Given the description of an element on the screen output the (x, y) to click on. 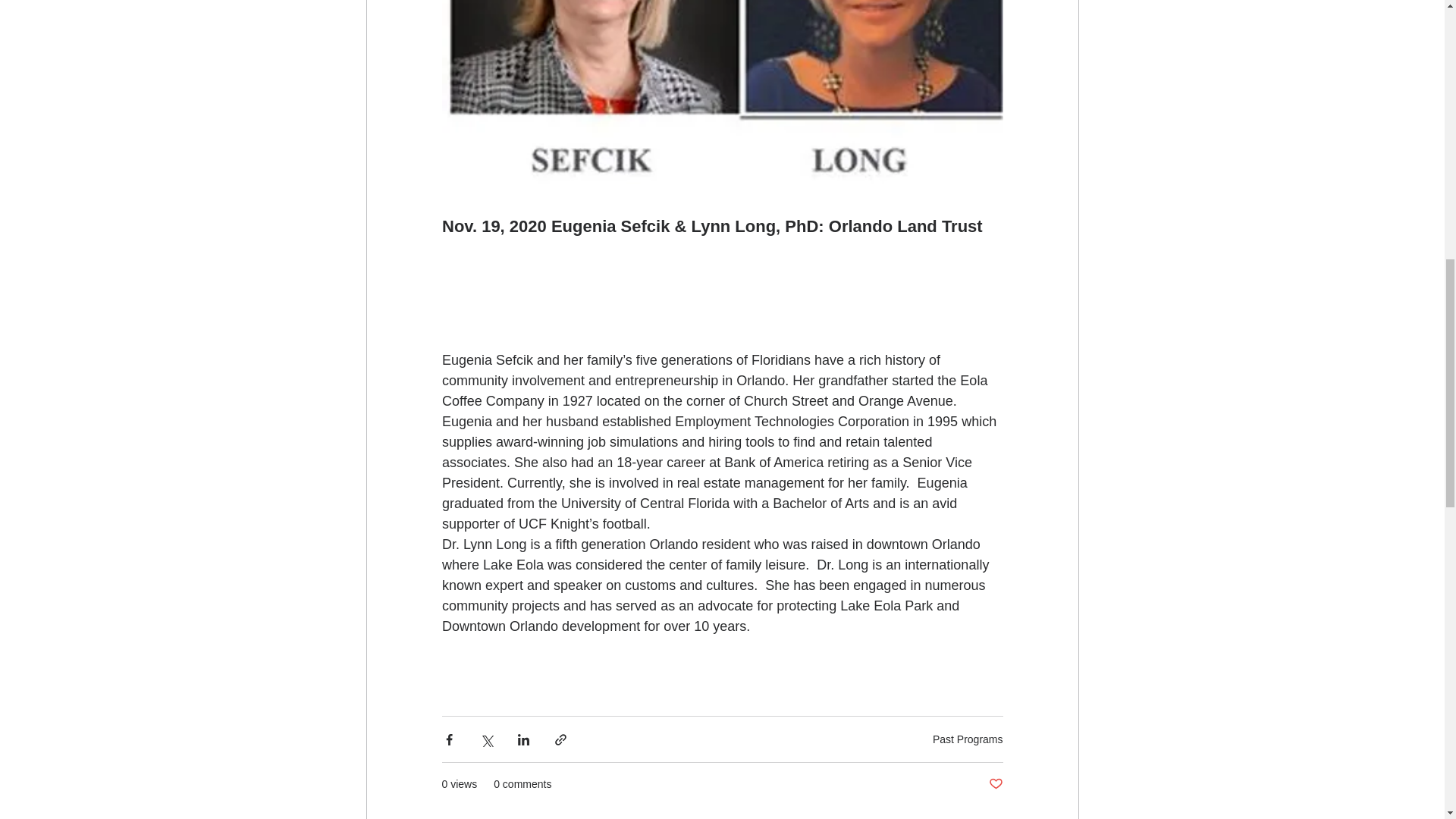
Past Programs (968, 739)
Post not marked as liked (995, 784)
